Given the description of an element on the screen output the (x, y) to click on. 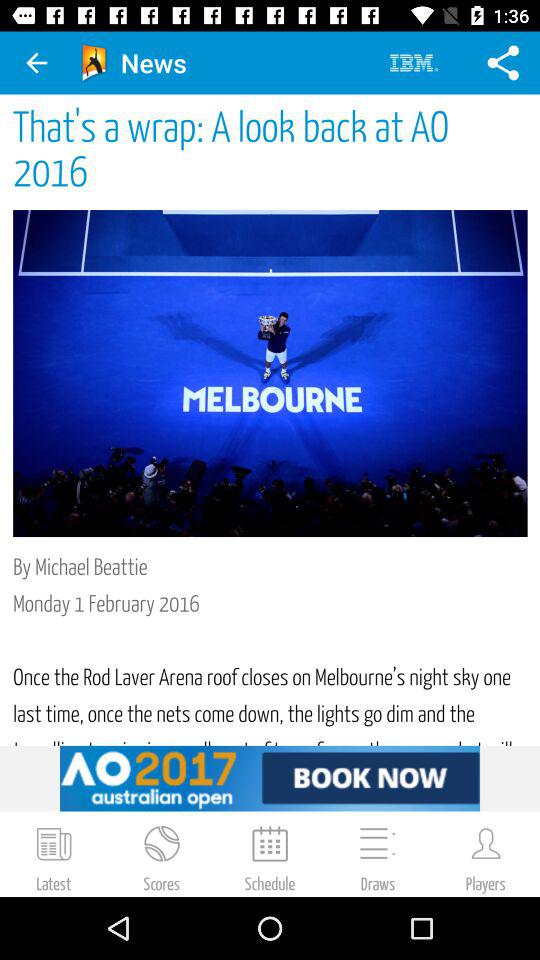
advertisement link (270, 778)
